Given the description of an element on the screen output the (x, y) to click on. 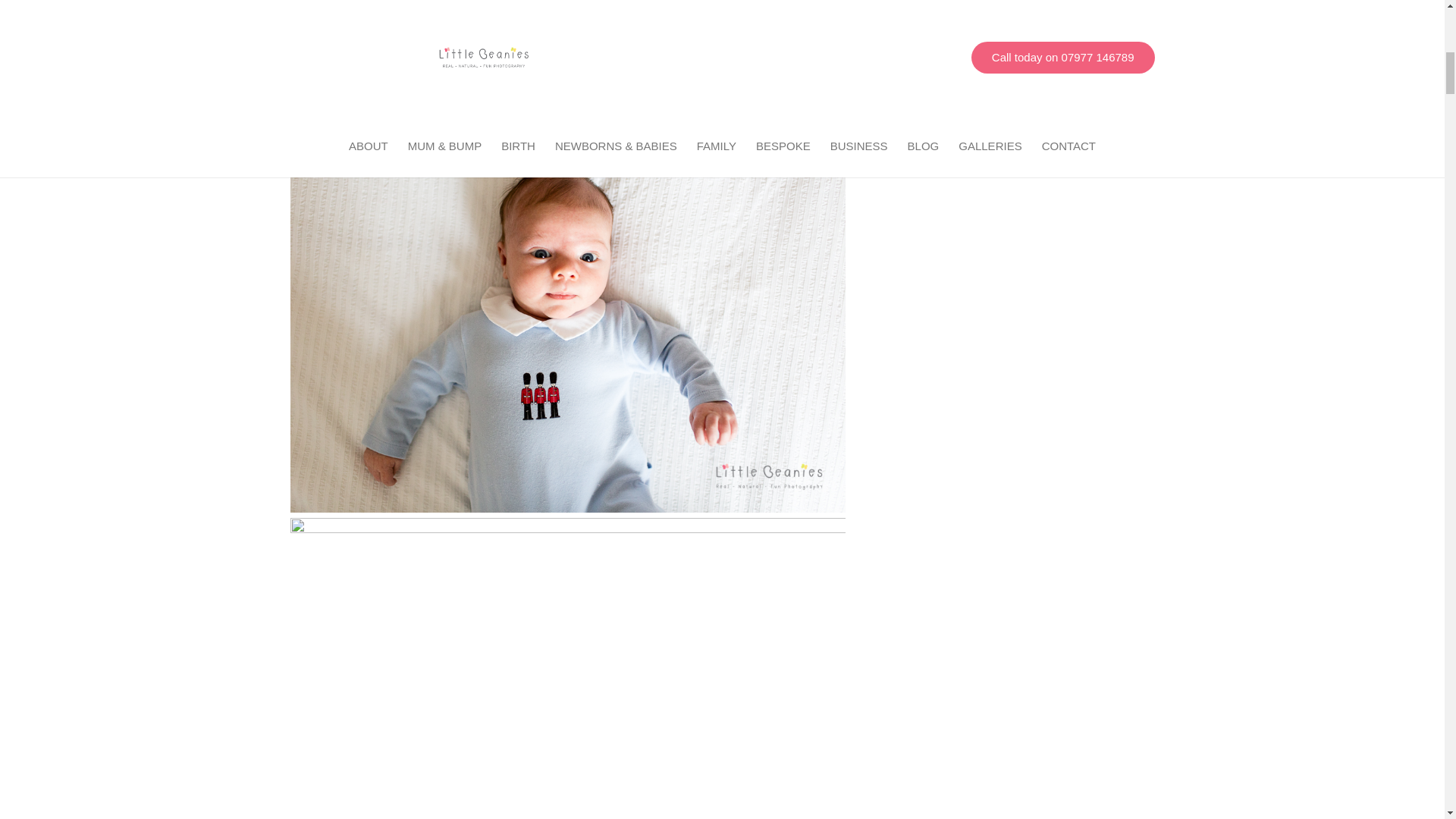
Back to top (1413, 26)
